Given the description of an element on the screen output the (x, y) to click on. 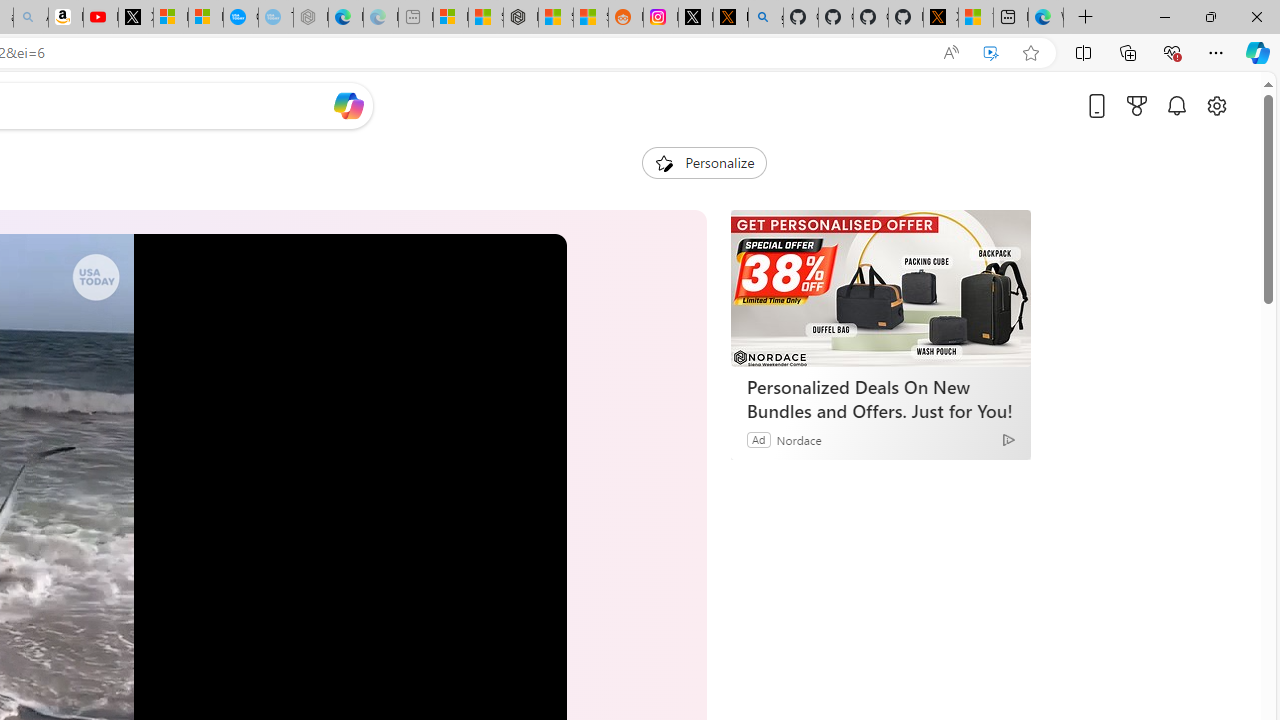
Personalized Deals On New Bundles and Offers. Just for You! (880, 399)
Open Copilot (347, 105)
Nordace - Nordace has arrived Hong Kong - Sleeping (310, 17)
X (136, 17)
X Privacy Policy (940, 17)
Microsoft rewards (1137, 105)
Notifications (1176, 105)
Shanghai, China Weather trends | Microsoft Weather (590, 17)
Open settings (1216, 105)
The most popular Google 'how to' searches - Sleeping (275, 17)
